Given the description of an element on the screen output the (x, y) to click on. 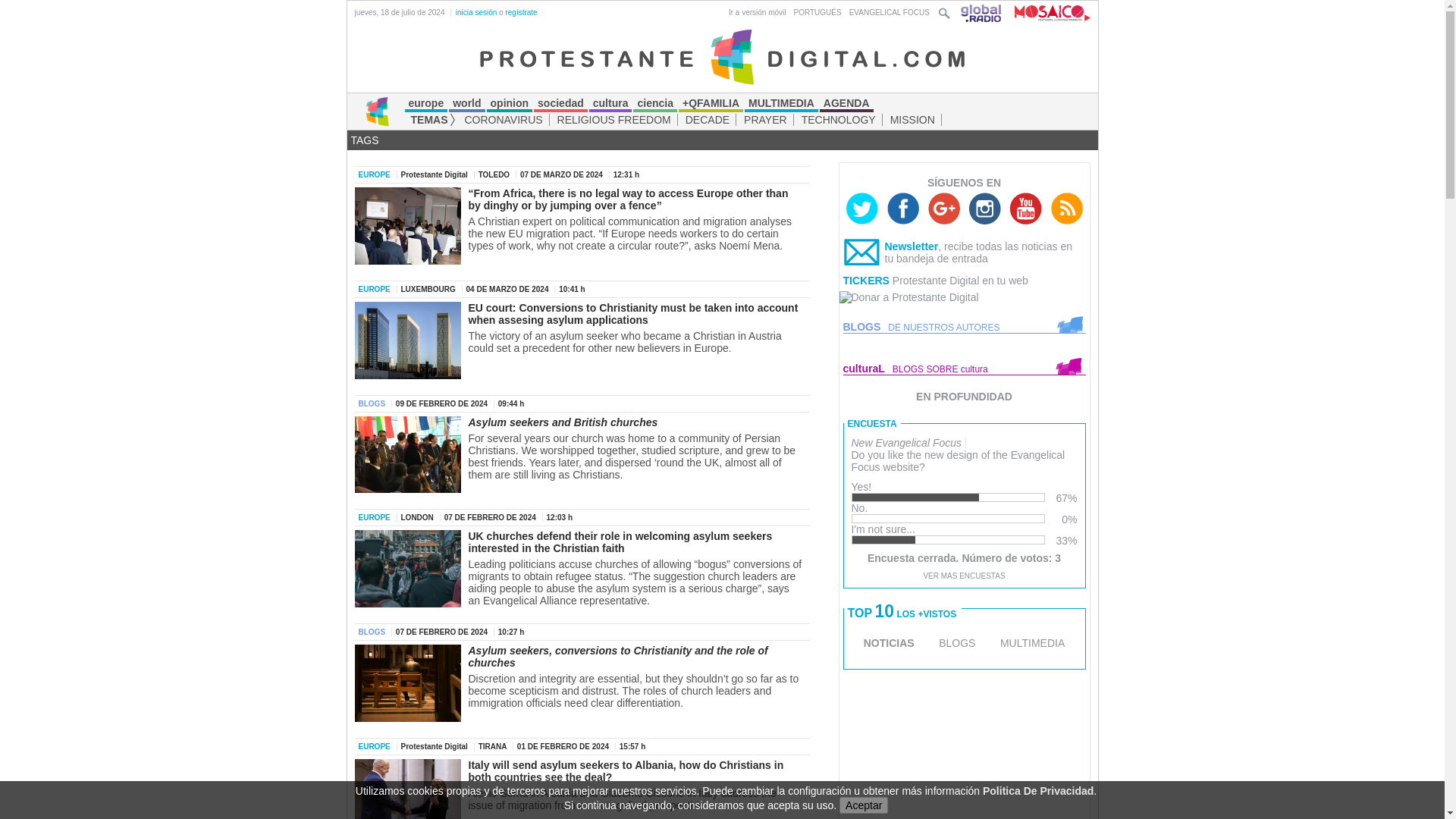
TAGS (364, 140)
